Given the description of an element on the screen output the (x, y) to click on. 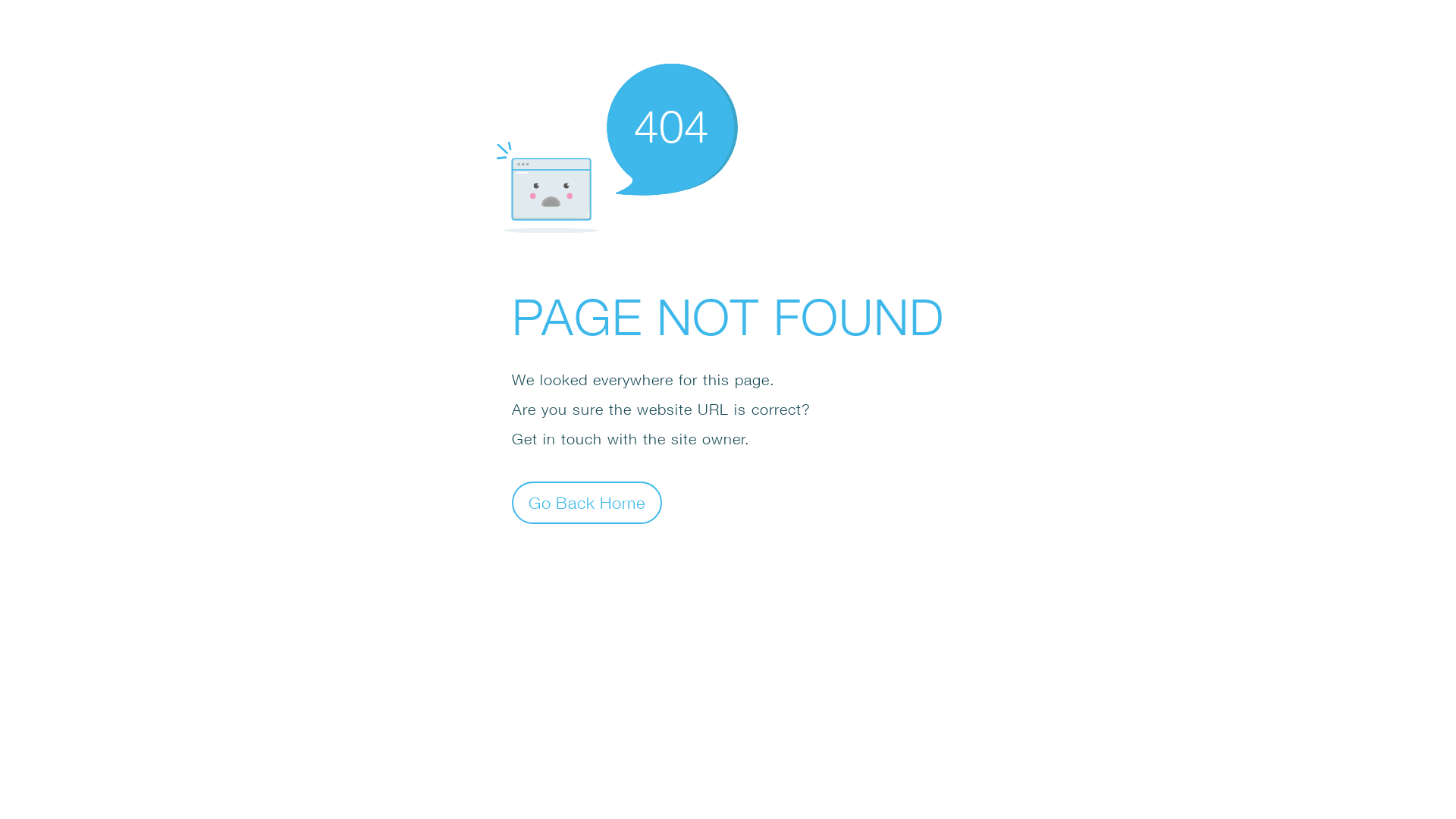
Go Back Home Element type: text (586, 502)
